Given the description of an element on the screen output the (x, y) to click on. 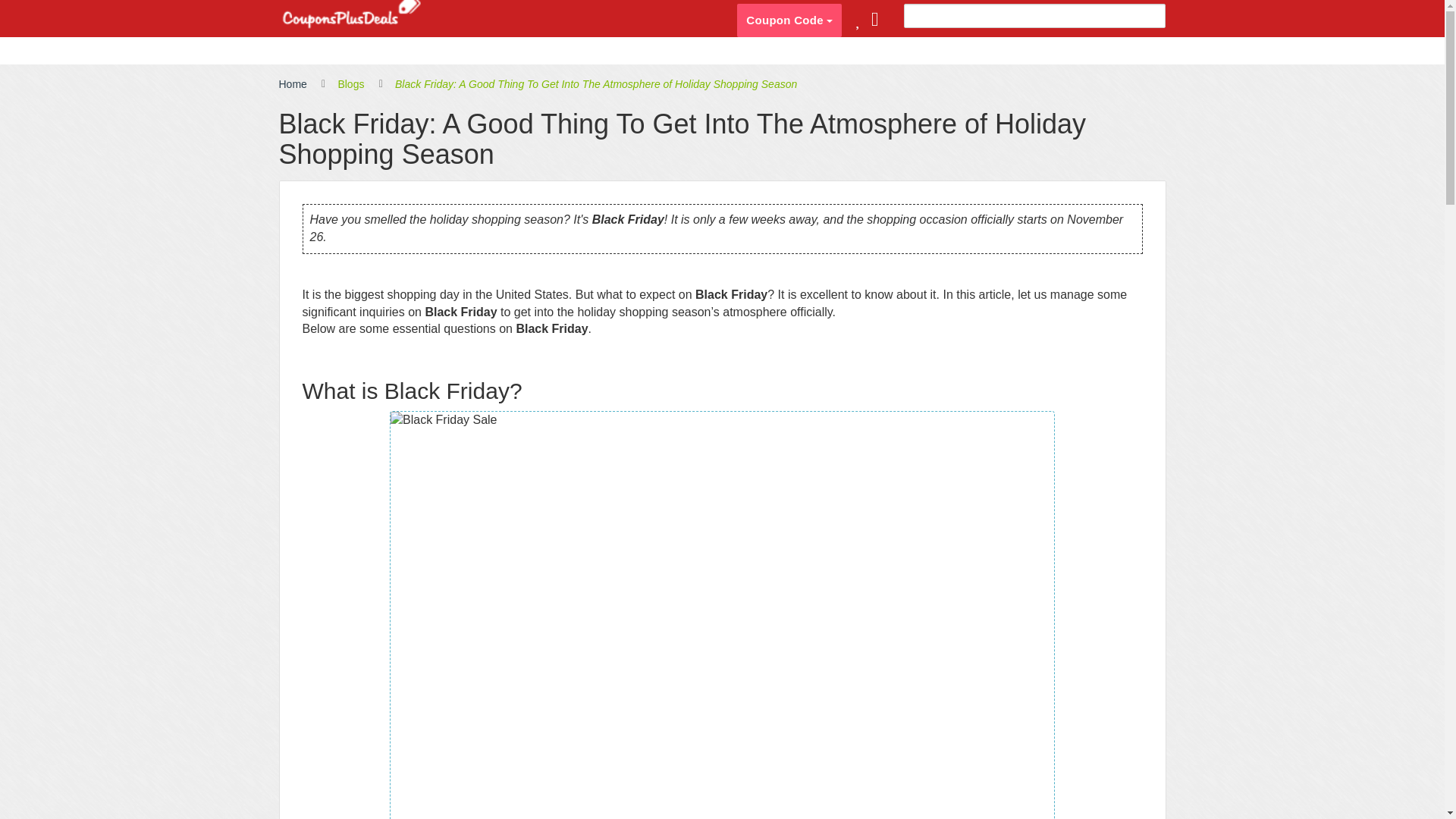
Blogs (350, 84)
Coupon Code (788, 20)
Home (293, 84)
Coupons Plus Deals (351, 15)
